Given the description of an element on the screen output the (x, y) to click on. 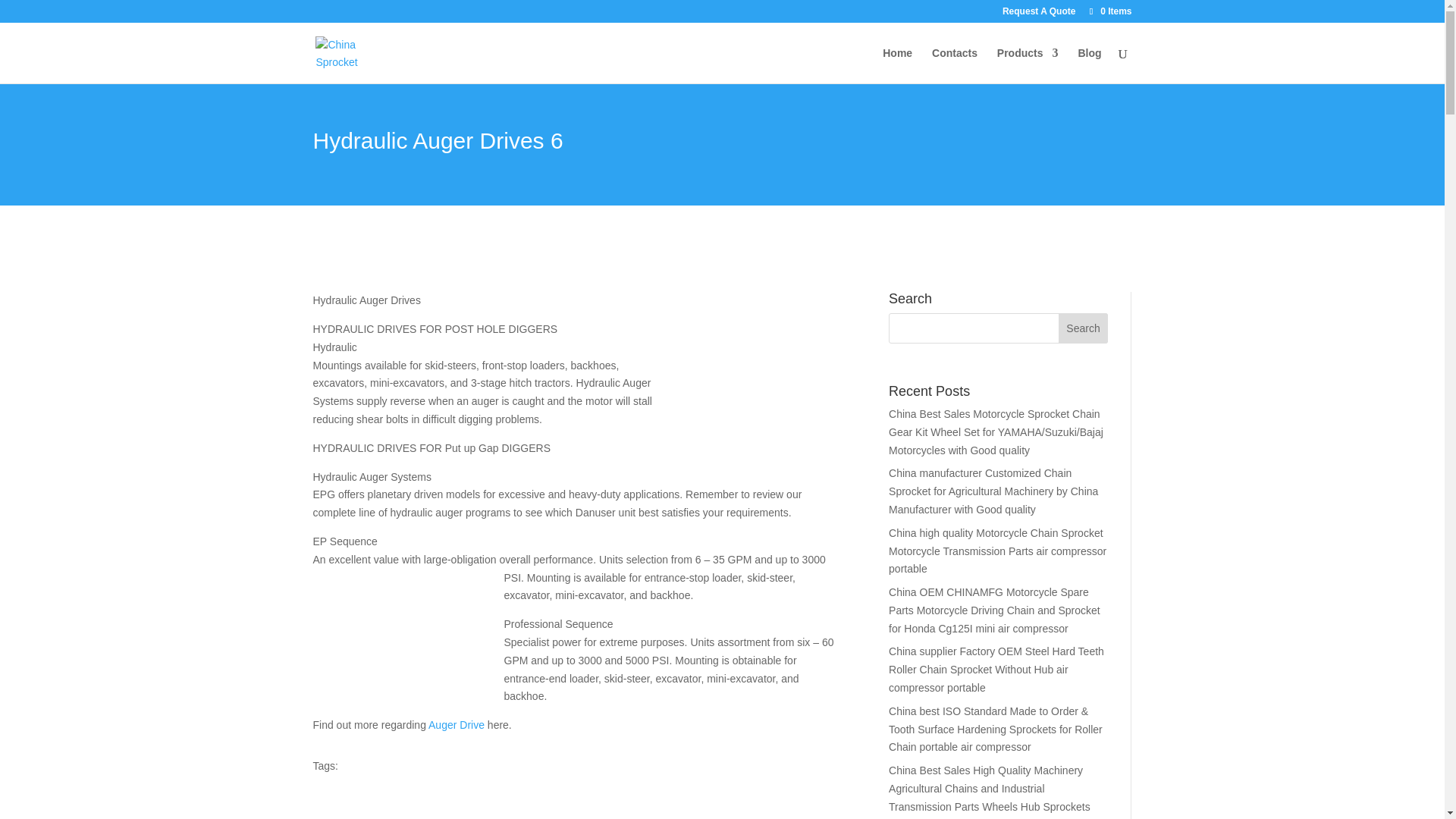
Search (1083, 327)
Search (1083, 327)
Blog (1088, 65)
Contacts (953, 65)
Products (1027, 65)
Request A Quote (1039, 14)
Home (897, 65)
Auger Drive (456, 725)
0 Items (1108, 10)
